Given the description of an element on the screen output the (x, y) to click on. 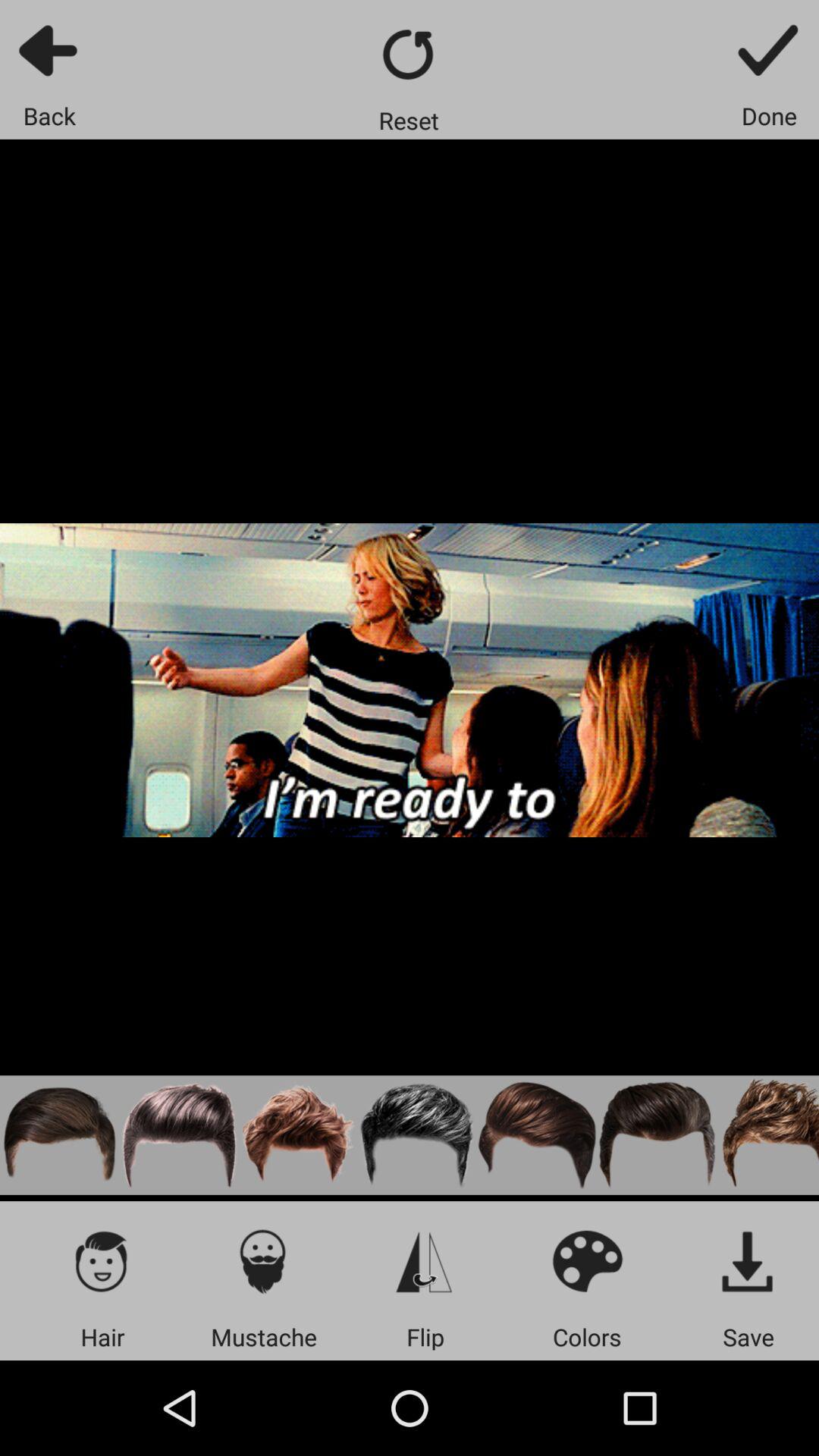
select hairstyle (417, 1134)
